Given the description of an element on the screen output the (x, y) to click on. 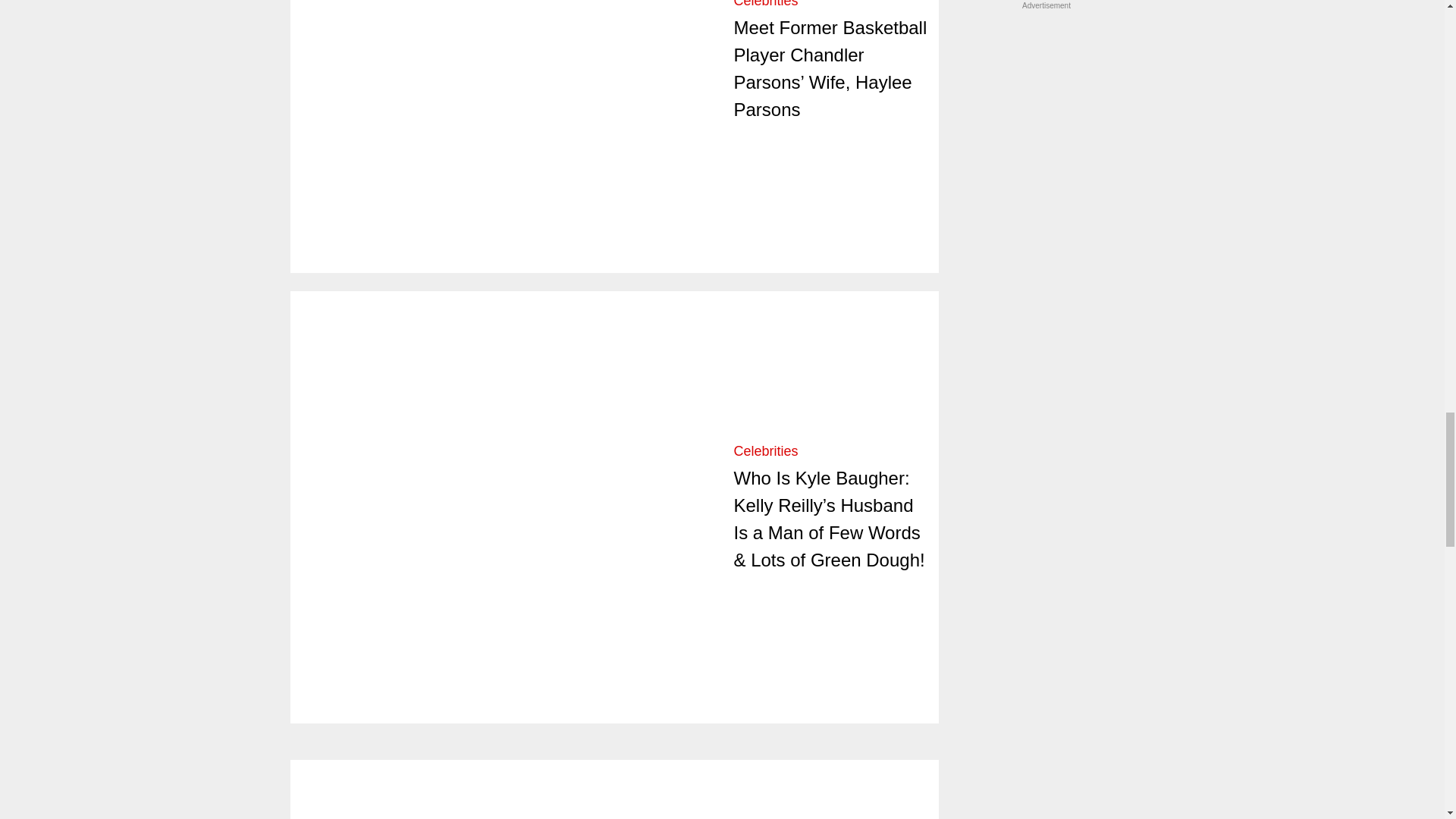
Category Name (765, 4)
Category Name (765, 450)
